Given the description of an element on the screen output the (x, y) to click on. 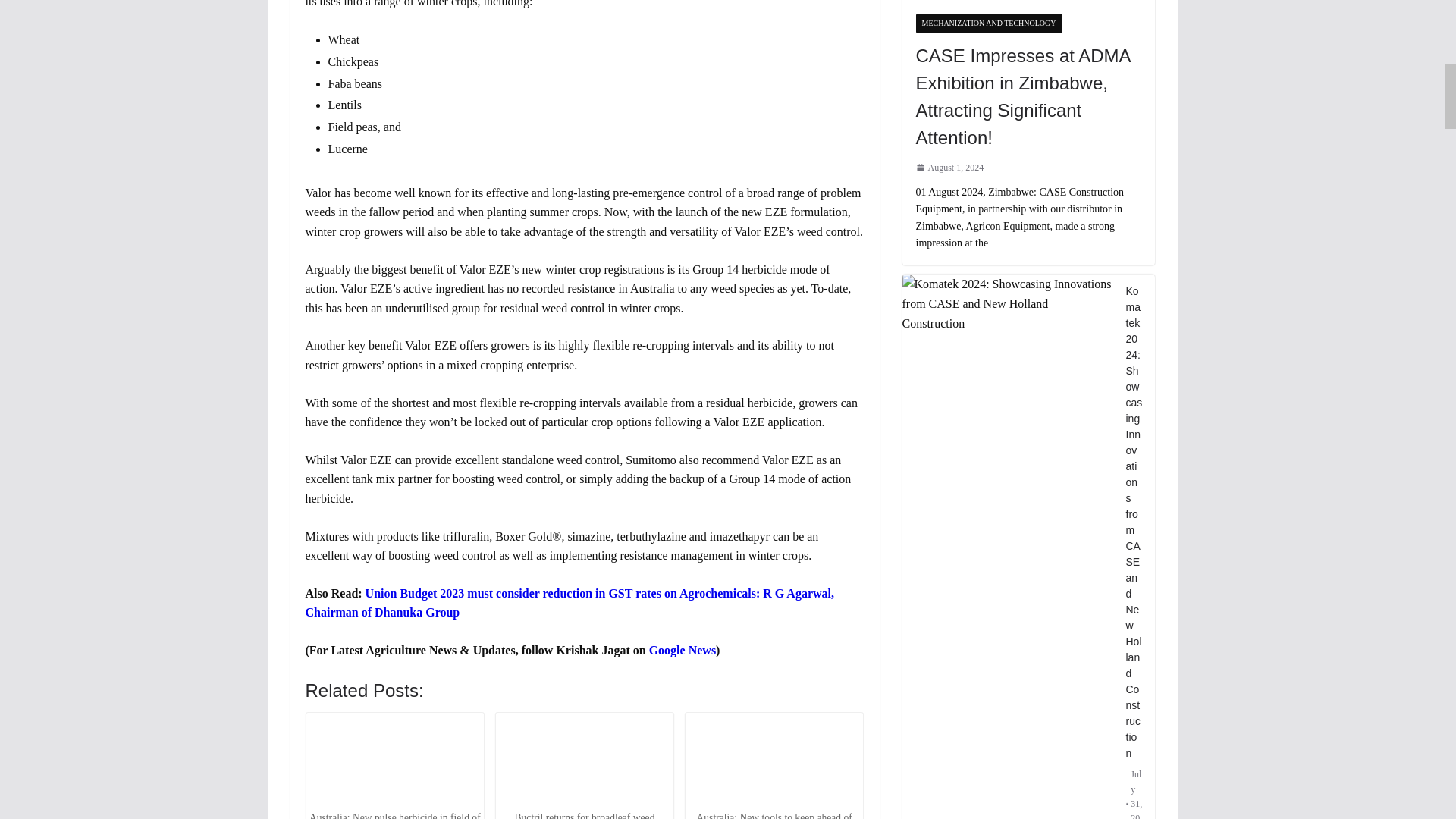
Buctril returns for broadleaf weed management (584, 759)
Australia: New pulse herbicide in field of its own (394, 759)
